Given the description of an element on the screen output the (x, y) to click on. 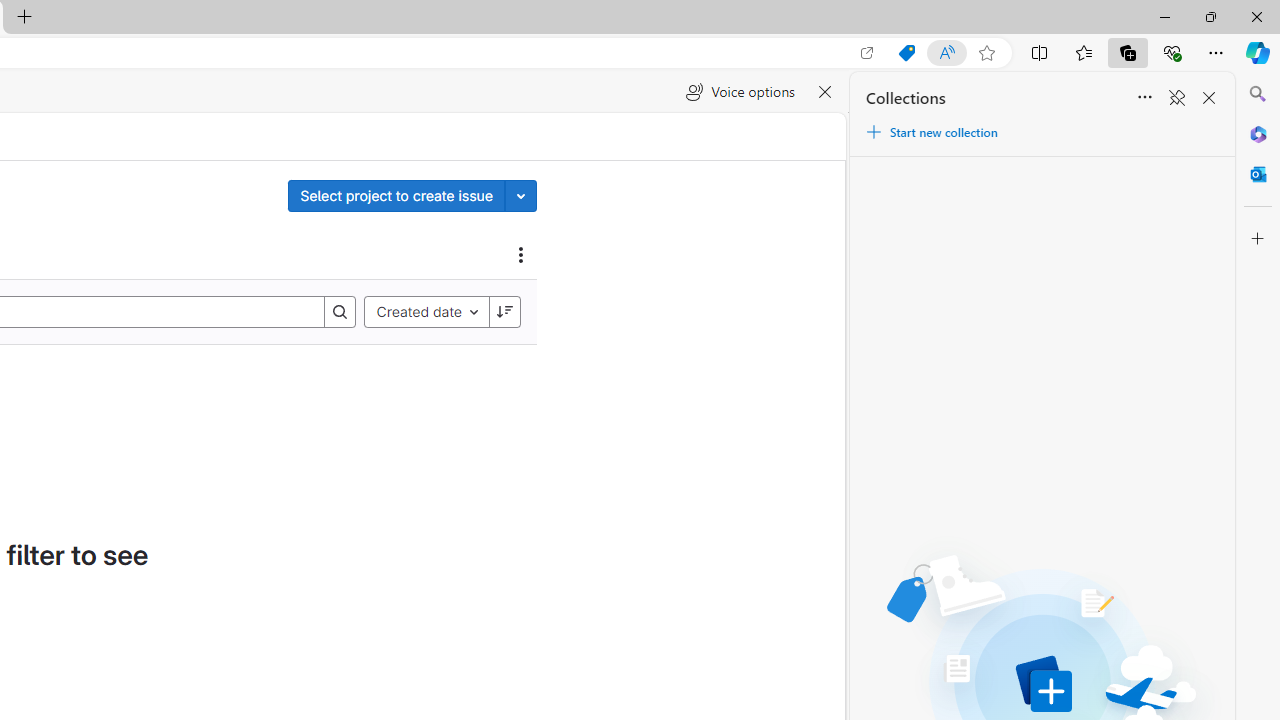
Close Collections (1208, 98)
Open in app (867, 53)
Toggle project select (521, 195)
Start new collection (931, 132)
Sort (1144, 98)
Sort direction: Descending (504, 311)
